Given the description of an element on the screen output the (x, y) to click on. 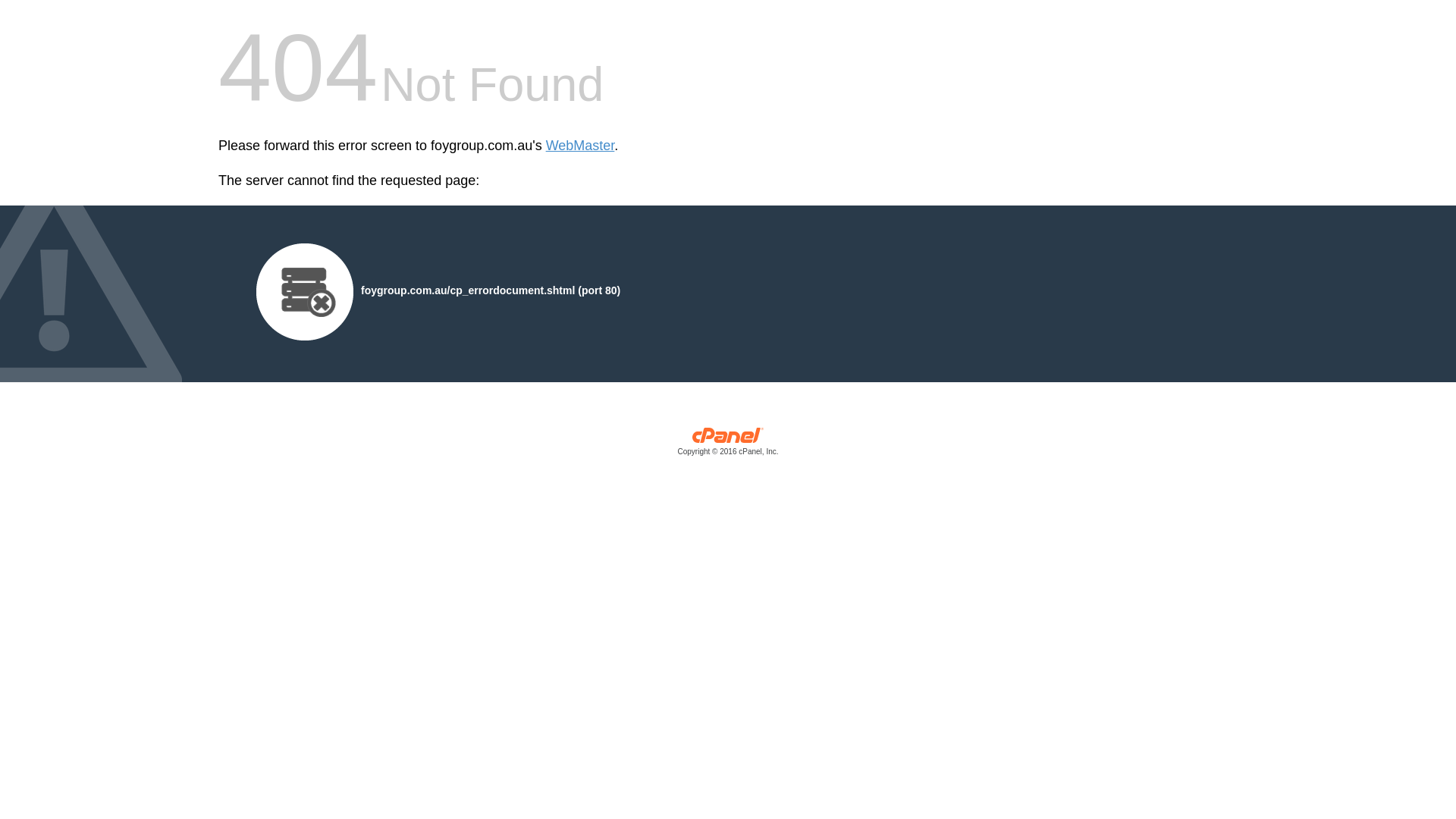
WebMaster Element type: text (580, 145)
